Given the description of an element on the screen output the (x, y) to click on. 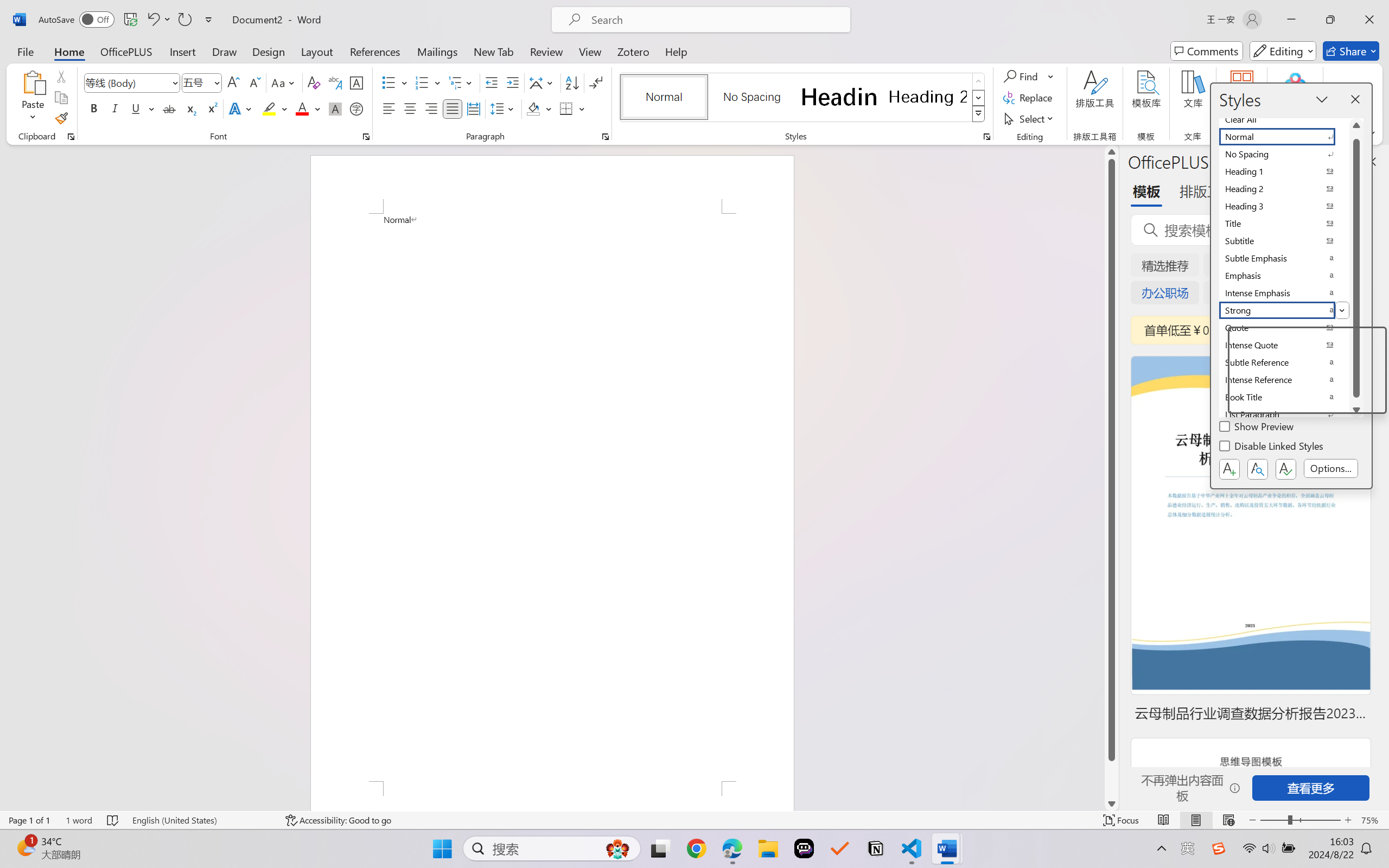
Subtle Emphasis (1283, 258)
Numbering (421, 82)
Class: NetUIImage (978, 114)
Intense Reference (1283, 379)
Class: NetUIButton (1285, 469)
Font Size (196, 82)
Multilevel List (461, 82)
AutomationID: QuickStylesGallery (802, 97)
Intense Emphasis (1283, 293)
Class: MsoCommandBar (694, 819)
Read Mode (1163, 819)
Underline (142, 108)
